Given the description of an element on the screen output the (x, y) to click on. 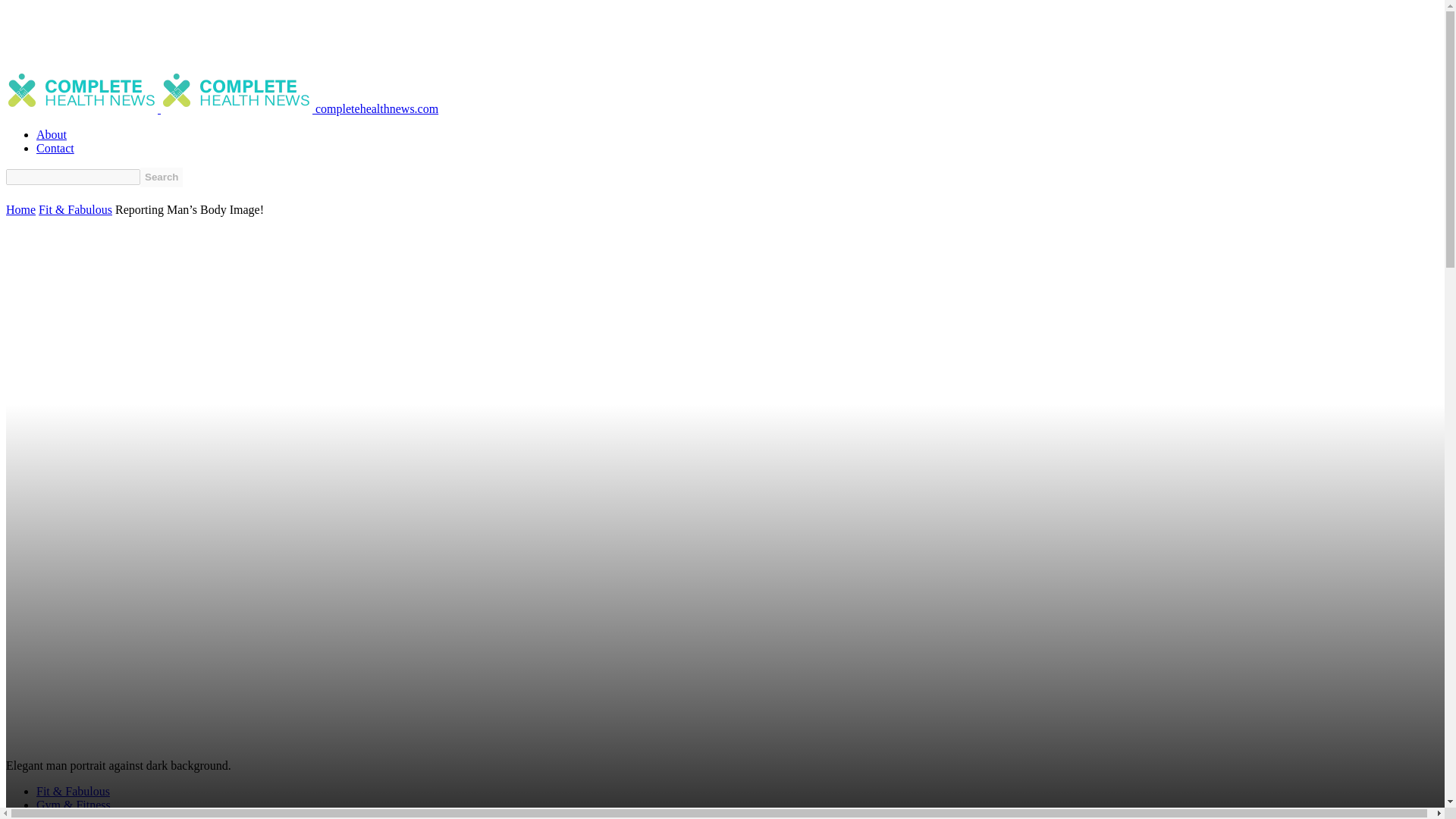
Contact (55, 147)
Home (19, 209)
Search (161, 177)
completehealthnews.com (299, 108)
Search (161, 177)
About (51, 133)
